Given the description of an element on the screen output the (x, y) to click on. 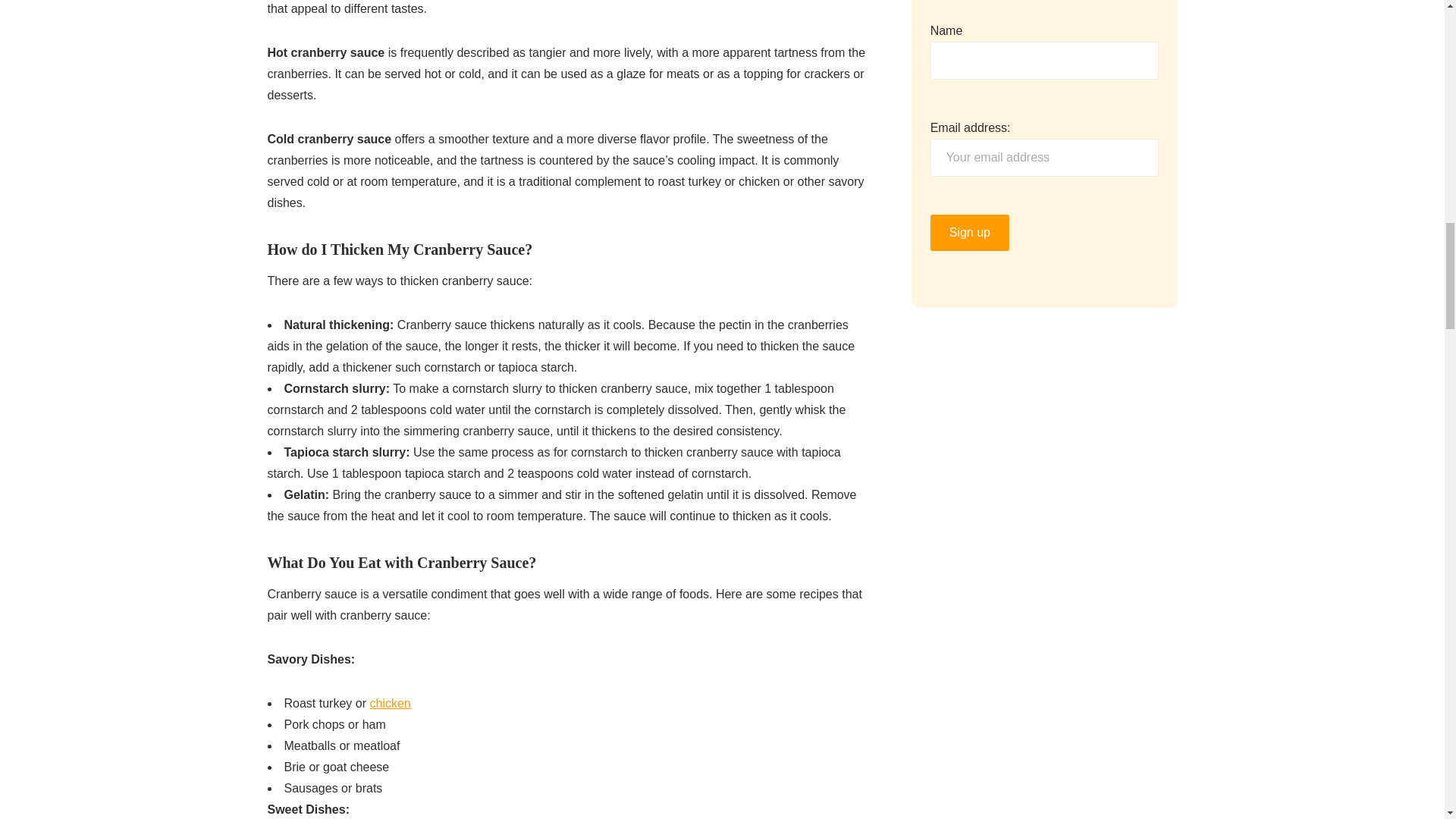
chicken (389, 703)
Sign up (969, 232)
